Given the description of an element on the screen output the (x, y) to click on. 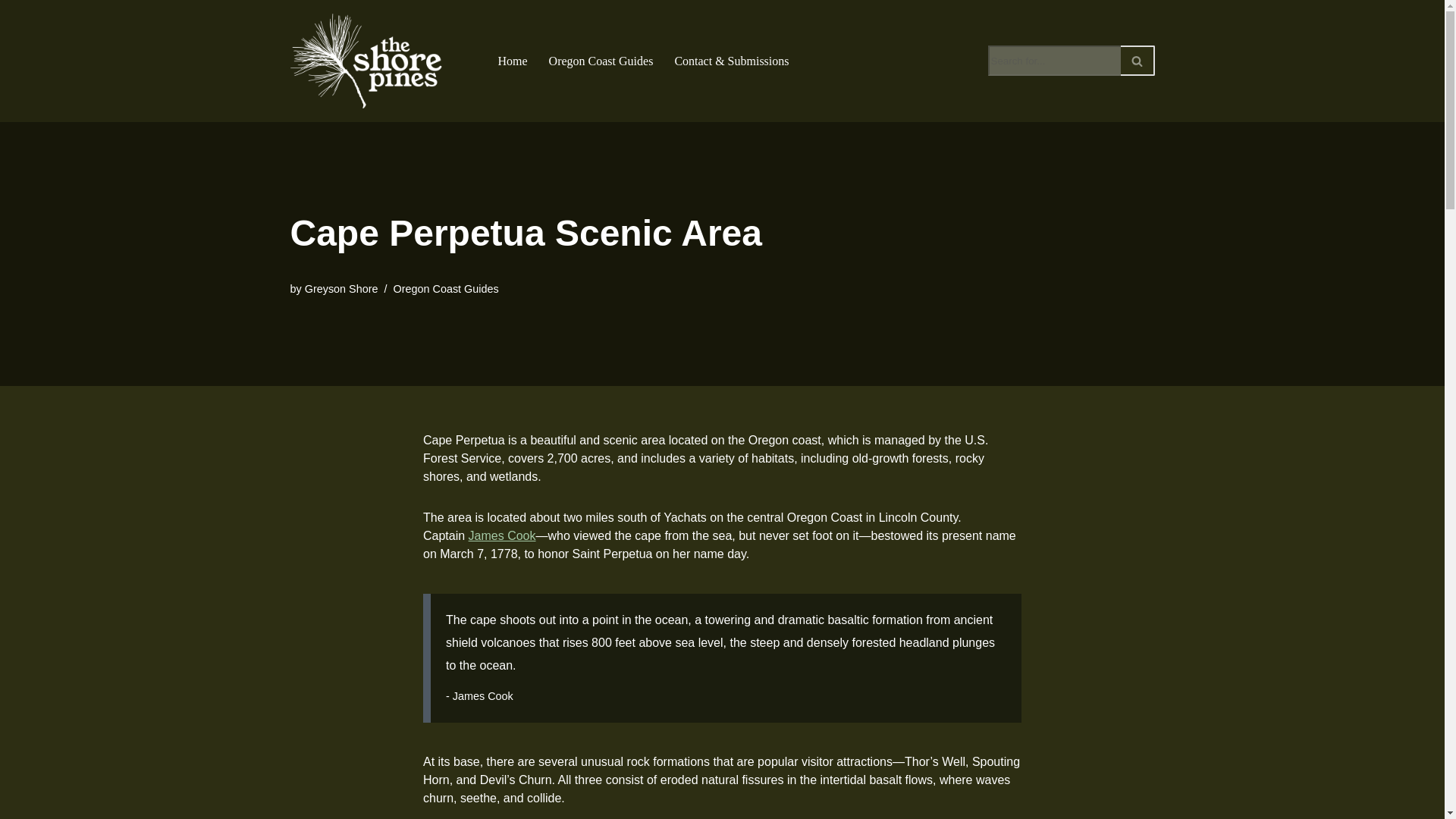
James Cook (501, 535)
Greyson Shore (341, 288)
Oregon Coast Guides (600, 60)
Oregon Coast Guides (445, 288)
Home (512, 60)
Skip to content (11, 31)
Posts by Greyson Shore (341, 288)
